Given the description of an element on the screen output the (x, y) to click on. 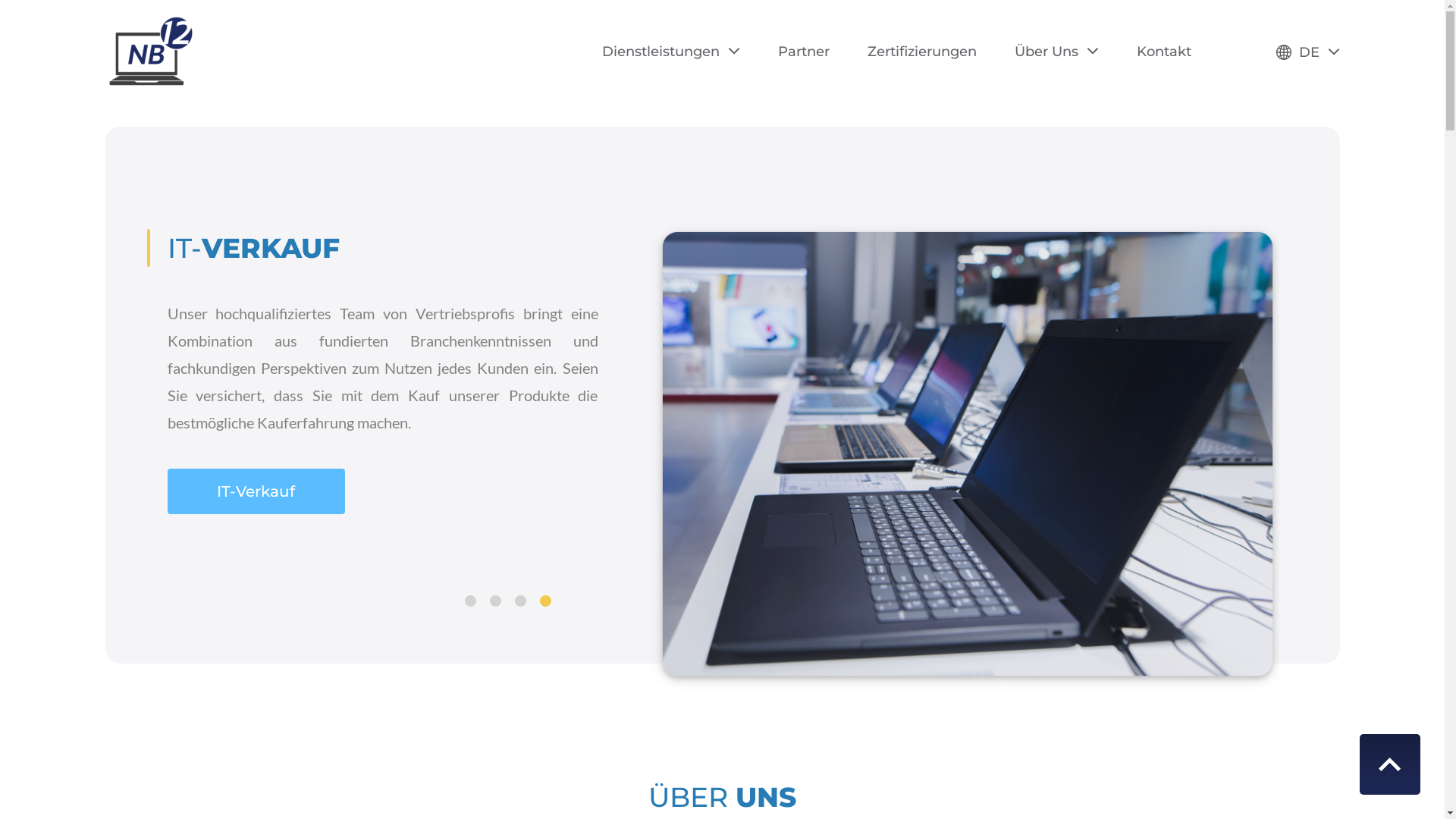
DE Element type: text (1307, 51)
Partner Element type: text (803, 50)
Dienstleistungen Element type: text (671, 50)
Zertifizierungen Element type: text (921, 50)
Kontakt Element type: text (1162, 50)
IT-Ankauf Element type: text (255, 491)
